Given the description of an element on the screen output the (x, y) to click on. 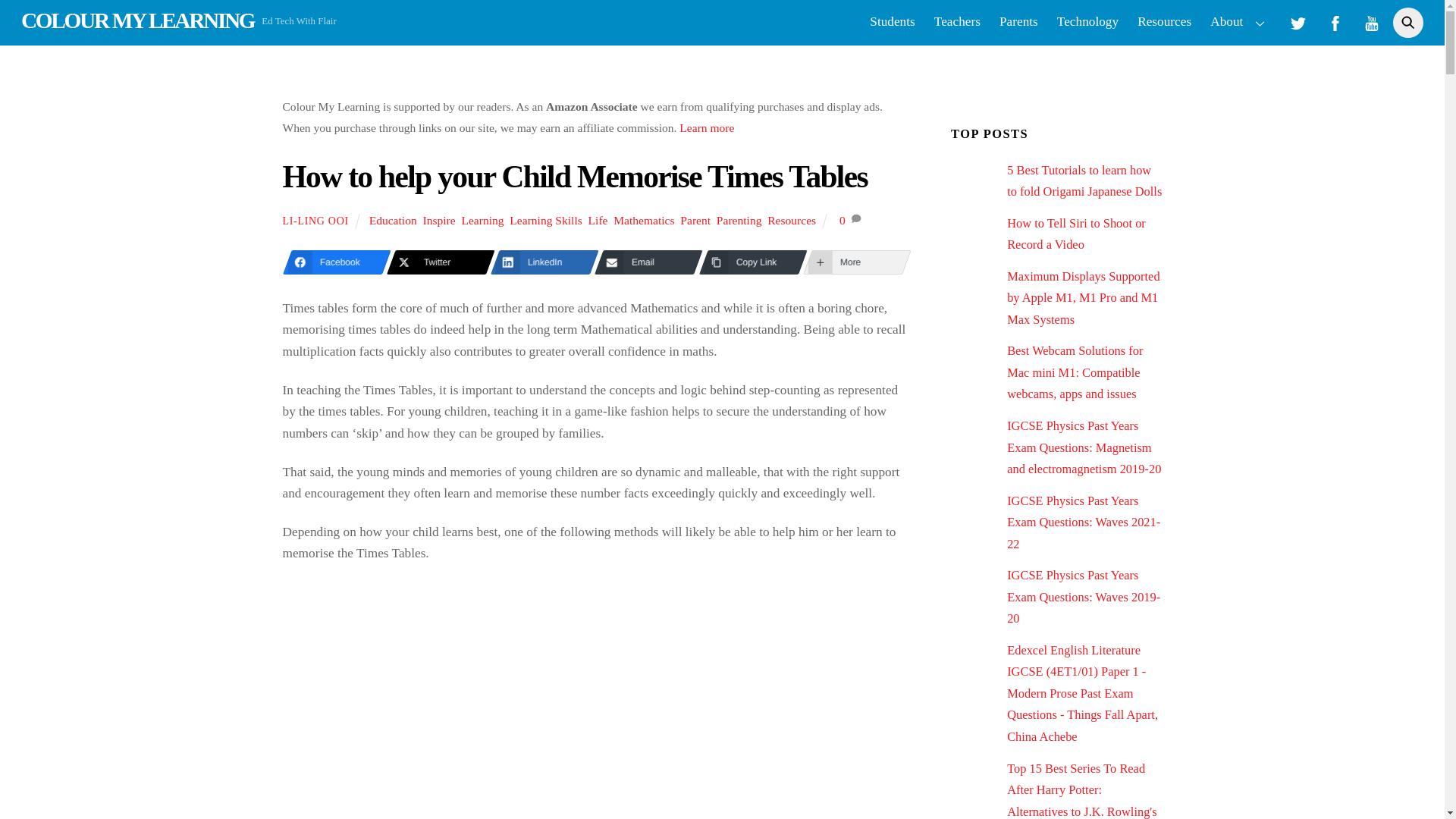
More (852, 262)
Life (598, 219)
Copy Link (747, 262)
Facebook (331, 262)
LI-LING OOI (314, 220)
Learning Skills (544, 219)
Technology (1086, 22)
Email (644, 262)
LinkedIn (539, 262)
Parents (1018, 22)
